Given the description of an element on the screen output the (x, y) to click on. 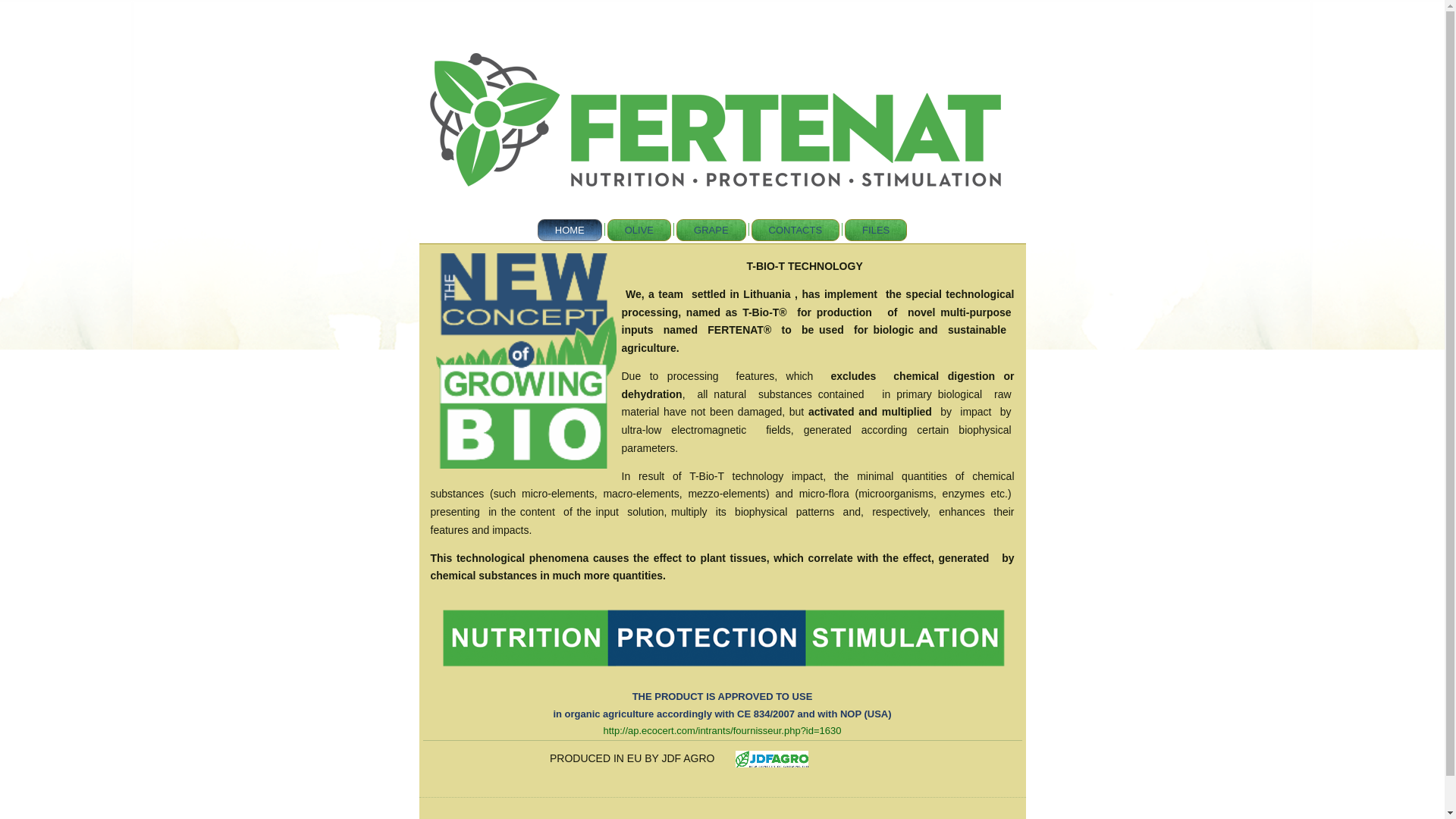
HOME (569, 229)
OLIVE (639, 229)
GRAPE (711, 229)
FILES (875, 229)
CONTACTS (795, 229)
